Given the description of an element on the screen output the (x, y) to click on. 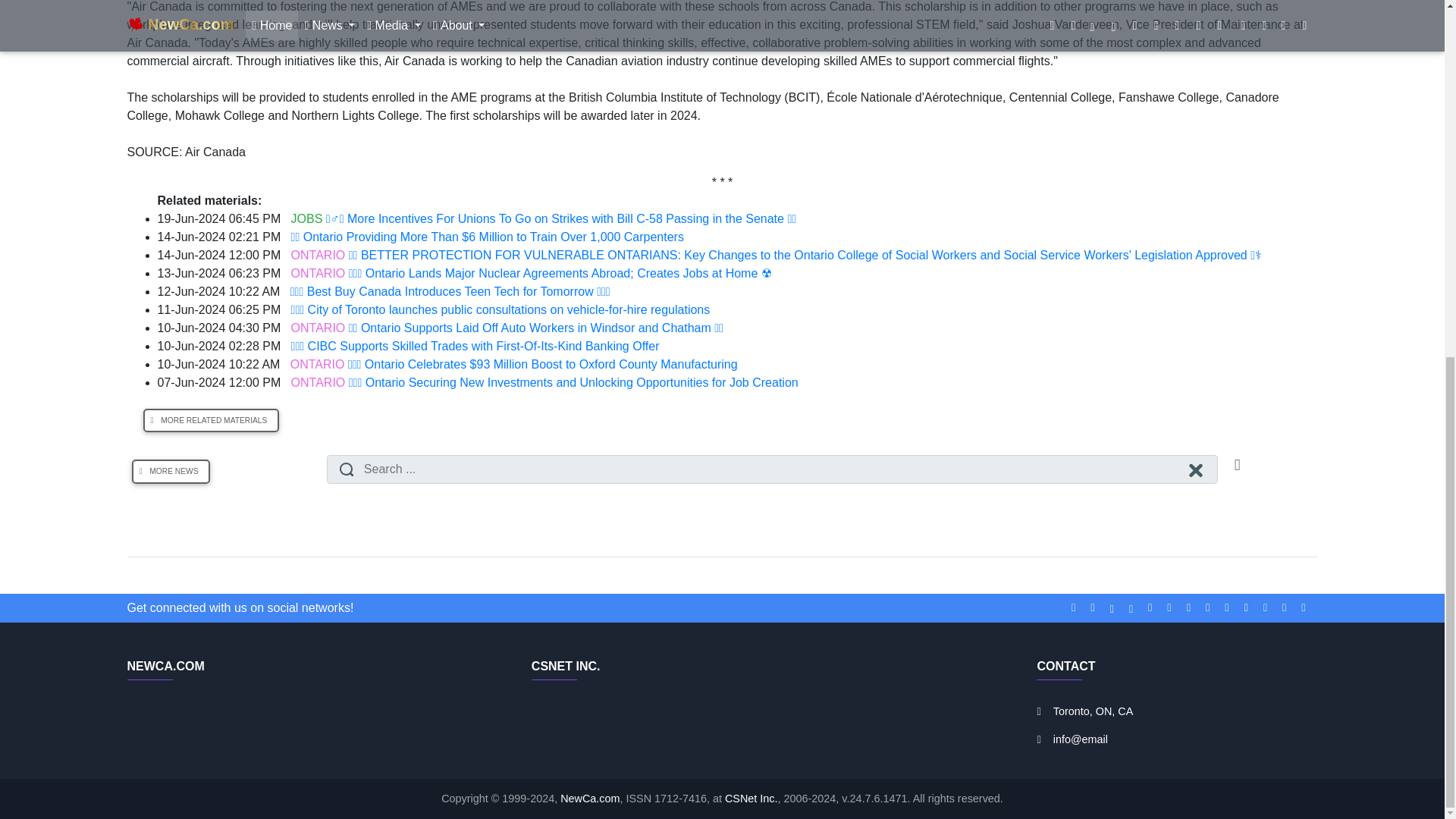
 More Related Materials  (210, 420)
 More News  (171, 471)
